Given the description of an element on the screen output the (x, y) to click on. 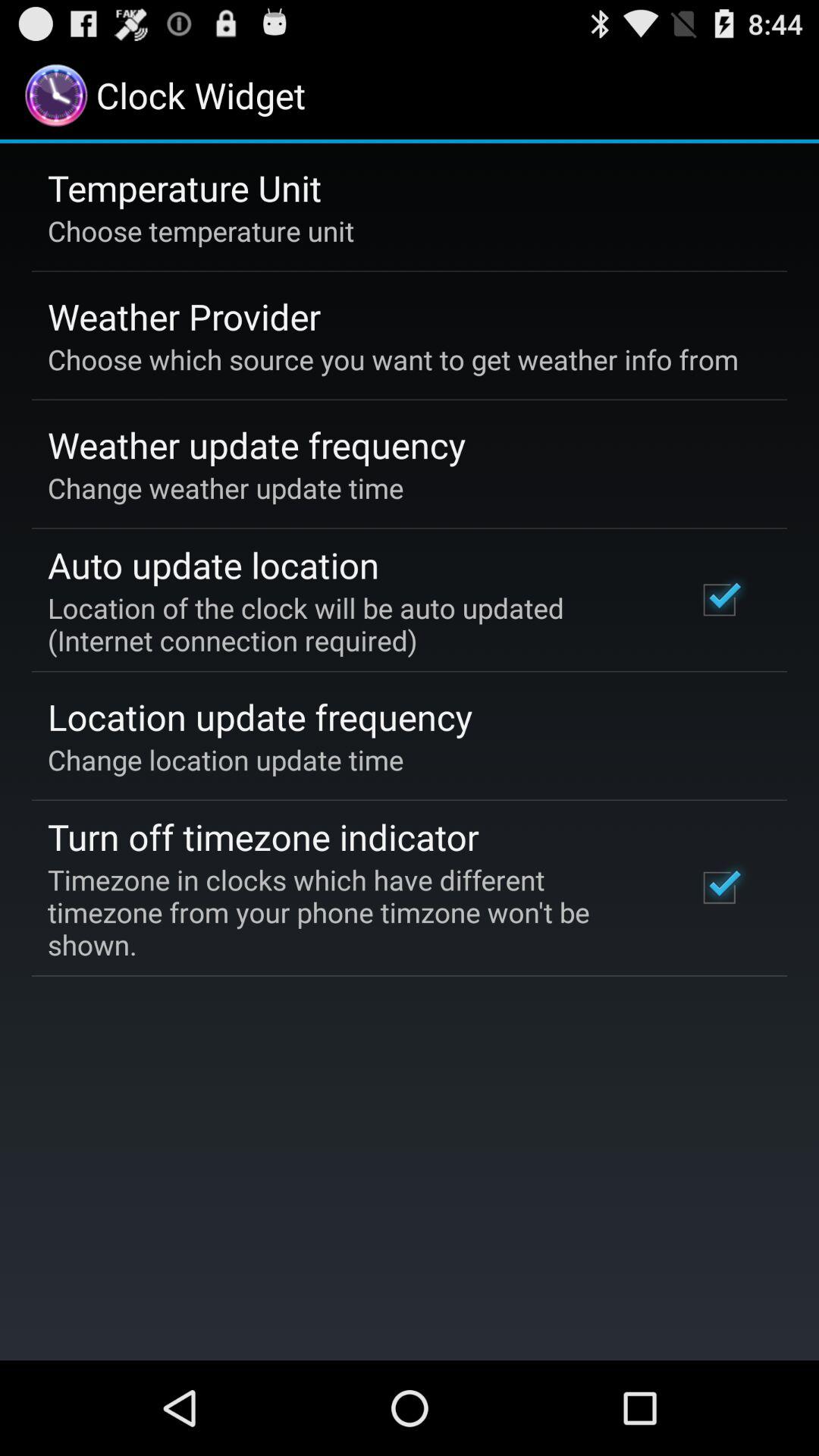
scroll until choose which source icon (392, 359)
